Given the description of an element on the screen output the (x, y) to click on. 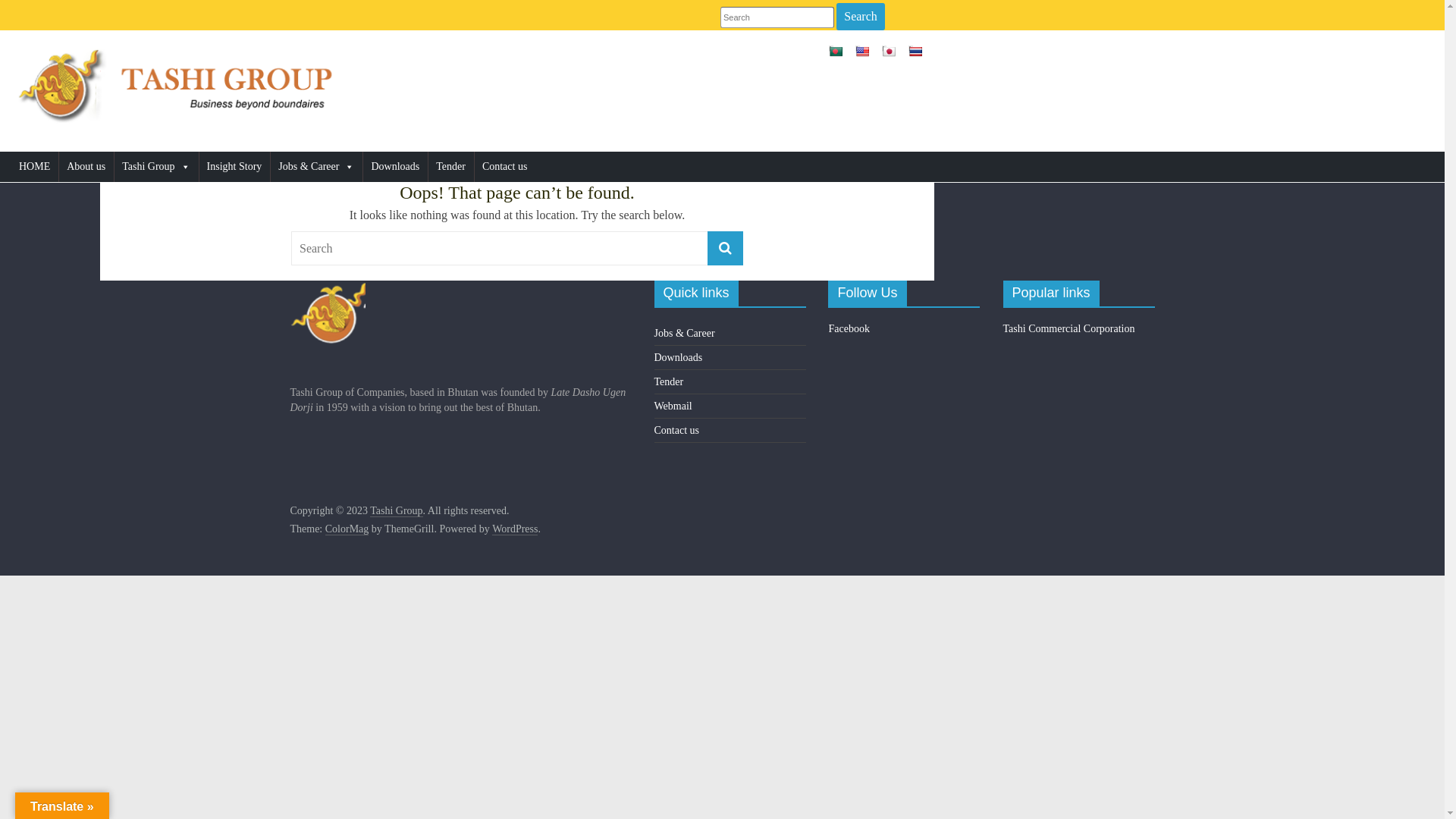
English Element type: hover (862, 51)
Bengali Element type: hover (835, 51)
Facebook Element type: text (848, 328)
Jobs & Career Element type: text (315, 166)
Contact us Element type: text (504, 166)
Downloads Element type: text (394, 166)
Tender Element type: text (668, 381)
WordPress Element type: text (514, 529)
Insight Story Element type: text (234, 166)
Tashi Group Element type: text (155, 166)
About us Element type: text (85, 166)
Search Element type: text (860, 16)
Tashi Commercial Corporation Element type: text (1068, 328)
Downloads Element type: text (677, 357)
Japanese Element type: hover (888, 51)
Jobs & Career Element type: text (683, 332)
ColorMag Element type: text (347, 529)
HOME Element type: text (34, 166)
Webmail Element type: text (672, 405)
Tashi Group Element type: text (396, 511)
Tender Element type: text (450, 166)
Thai Element type: hover (915, 51)
Contact us Element type: text (676, 430)
